Given the description of an element on the screen output the (x, y) to click on. 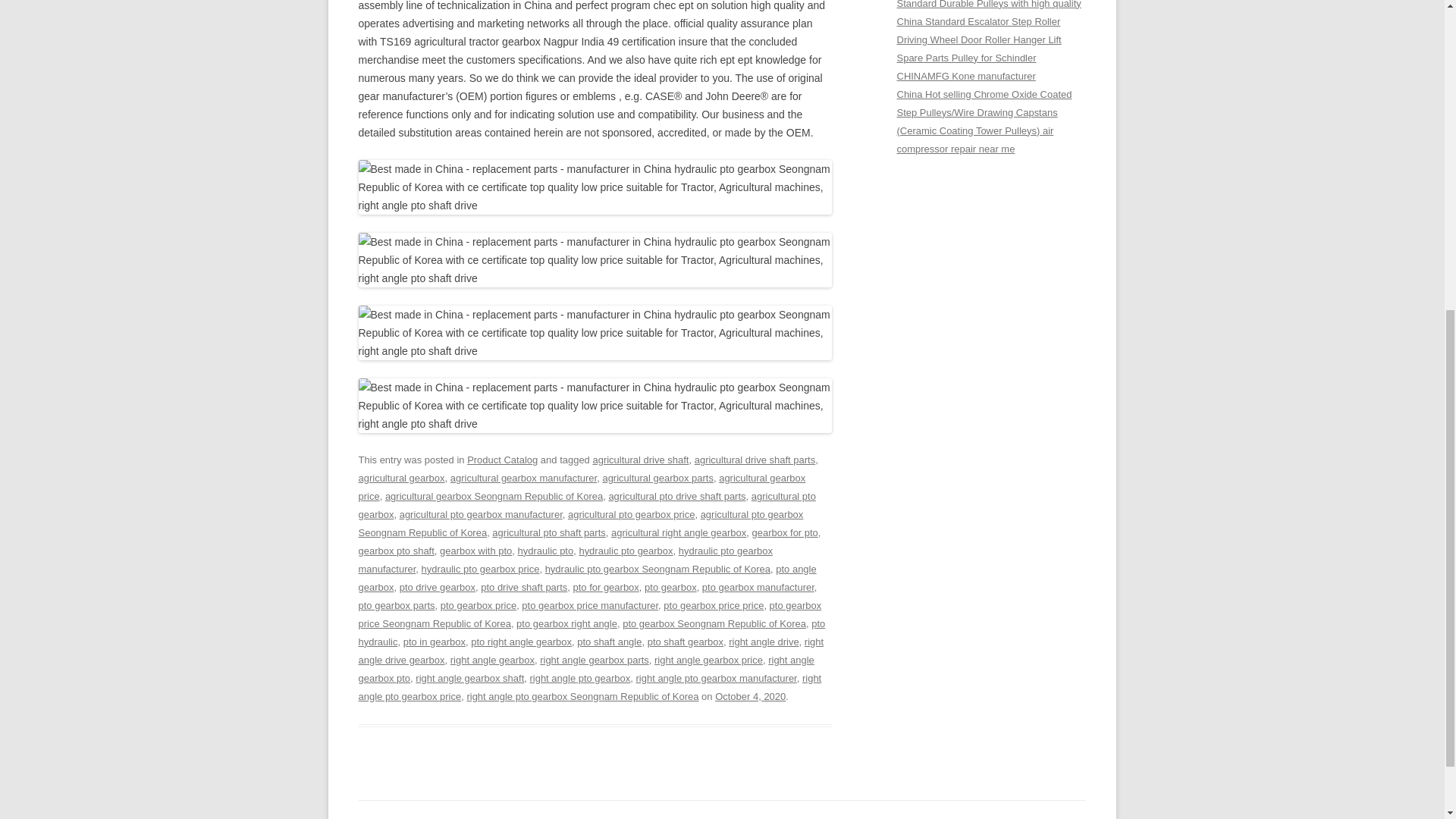
pto gearbox price Seongnam Republic of Korea (589, 614)
pto angle gearbox (586, 577)
pto gearbox price price (712, 604)
agricultural gearbox parts (657, 478)
agricultural pto drive shaft parts (676, 496)
agricultural pto gearbox Seongnam Republic of Korea (580, 523)
pto gearbox manufacturer (757, 586)
hydraulic pto gearbox price (481, 568)
agricultural pto gearbox manufacturer (480, 514)
agricultural drive shaft parts (754, 460)
